Given the description of an element on the screen output the (x, y) to click on. 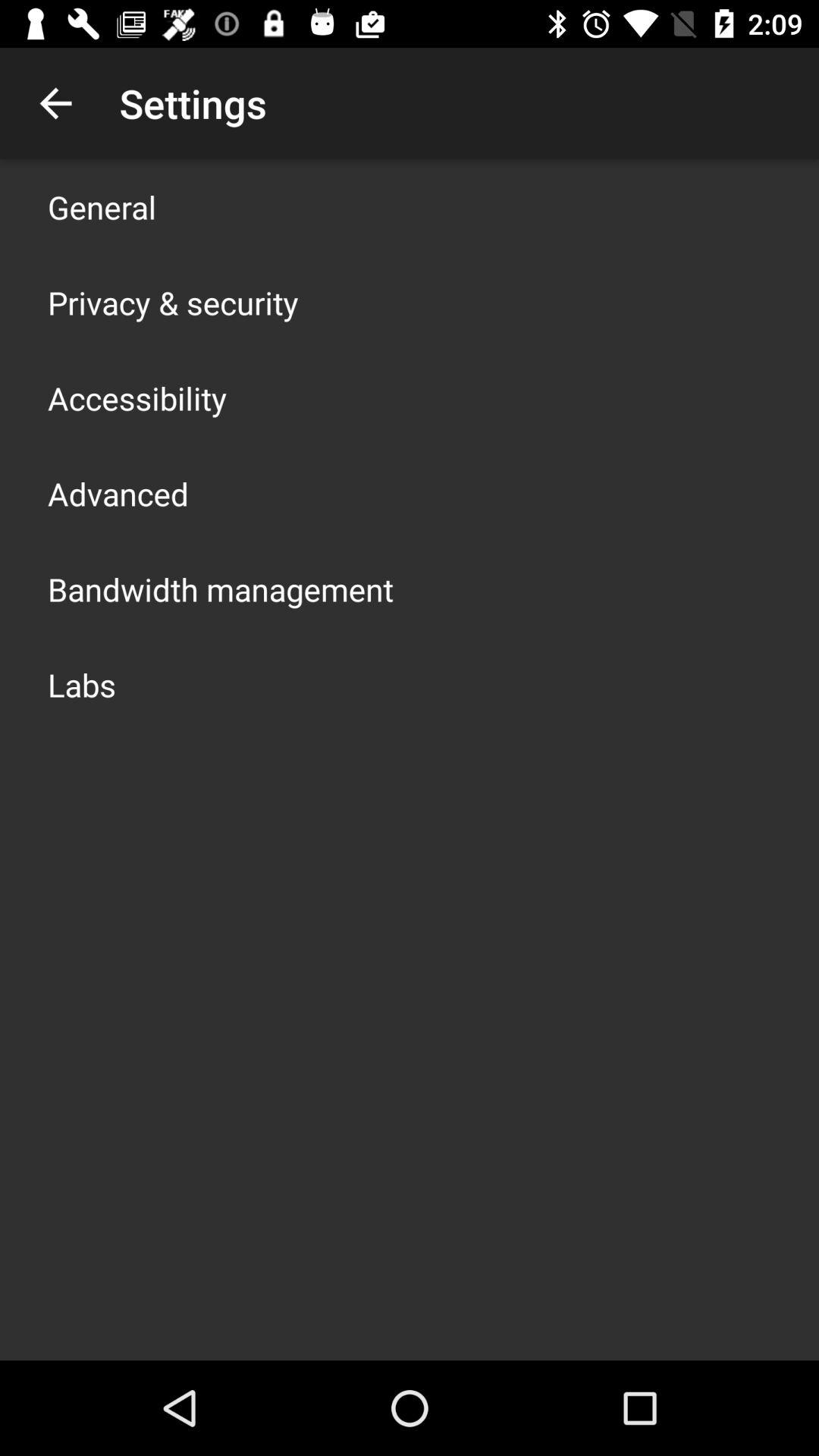
tap the icon next to settings app (55, 103)
